Given the description of an element on the screen output the (x, y) to click on. 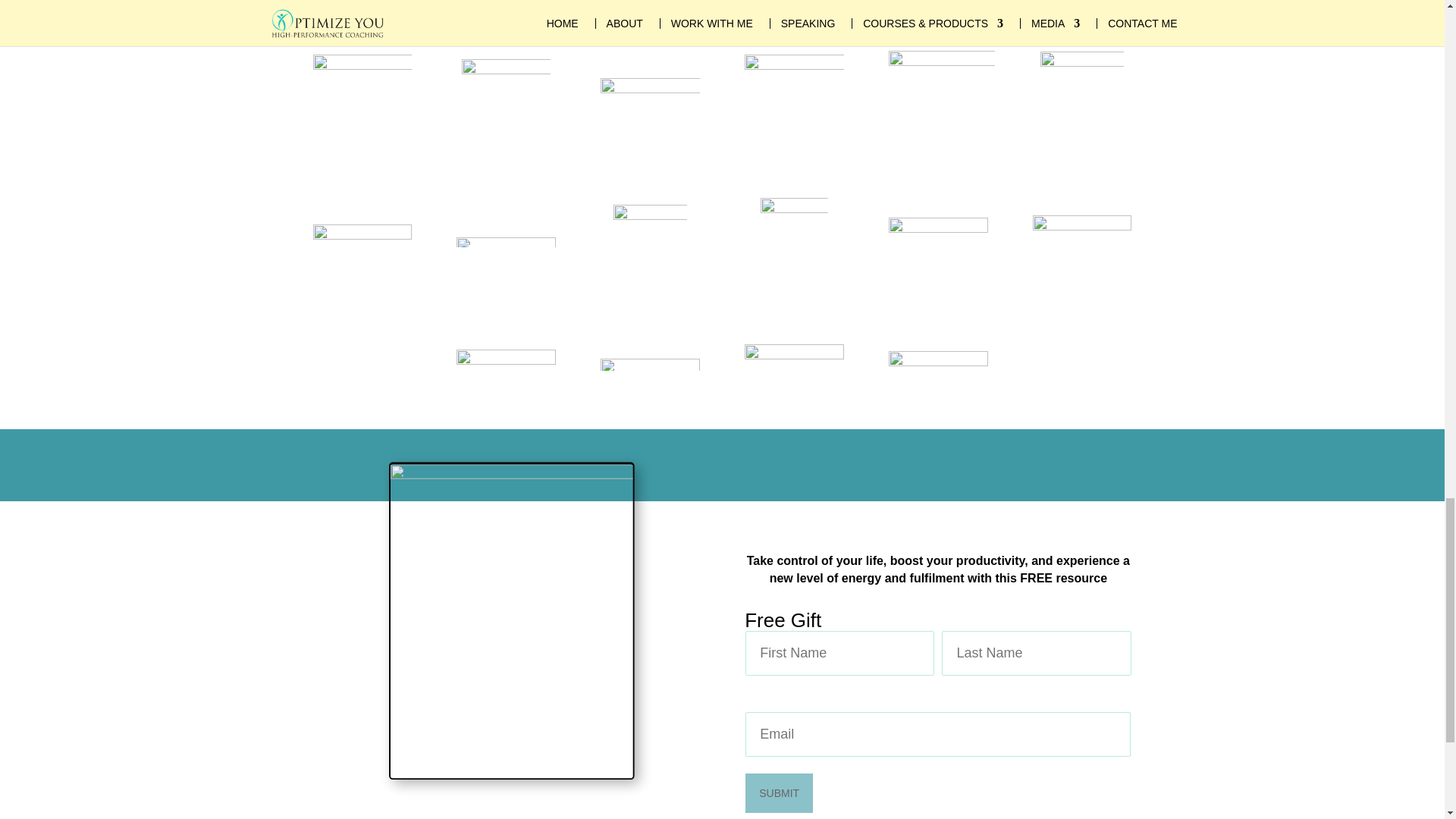
Amazon 1 Best Seller logo (362, 103)
ABC Logo (649, 242)
HGTV (937, 242)
fidelity-vector-logo (1081, 242)
WEF logo (505, 103)
Thrive Global (648, 102)
ASQ logo (505, 364)
CREA 2021 Badge High Resolution (793, 103)
newVoiceAmericaLogo (505, 242)
BRAINZ MAGAZINE-2 (941, 103)
